Given the description of an element on the screen output the (x, y) to click on. 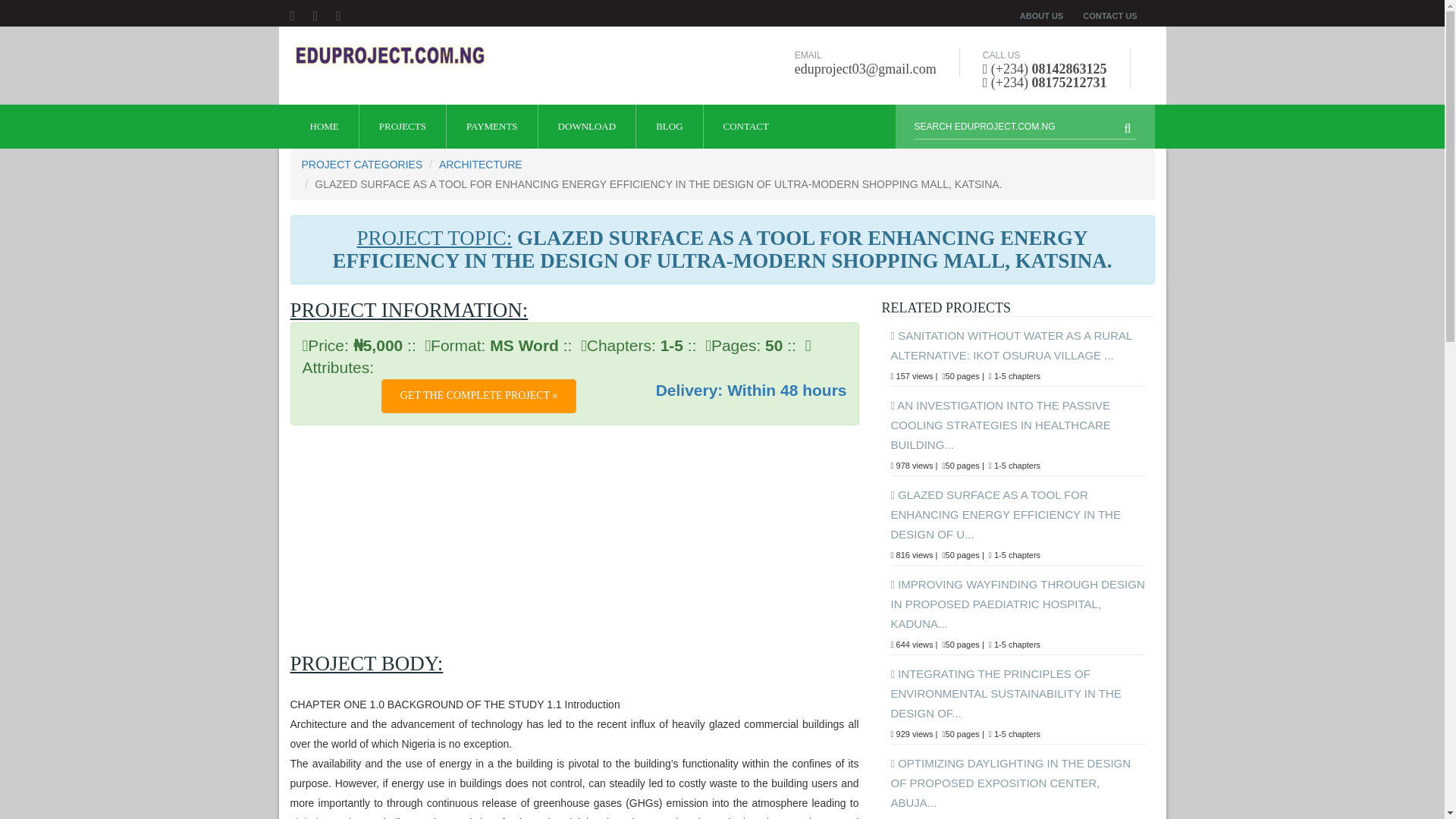
HOME (323, 126)
PROJECTS (402, 126)
PROJECT CATEGORIES (362, 164)
global (303, 817)
All Project Topic categories and departments (362, 164)
RESEARCH PROJECT TOPICS AND PROJECT TOPICS ON EDUCATION (389, 54)
CONTACT (746, 126)
Delivery: Within 48 hours (751, 389)
